Given the description of an element on the screen output the (x, y) to click on. 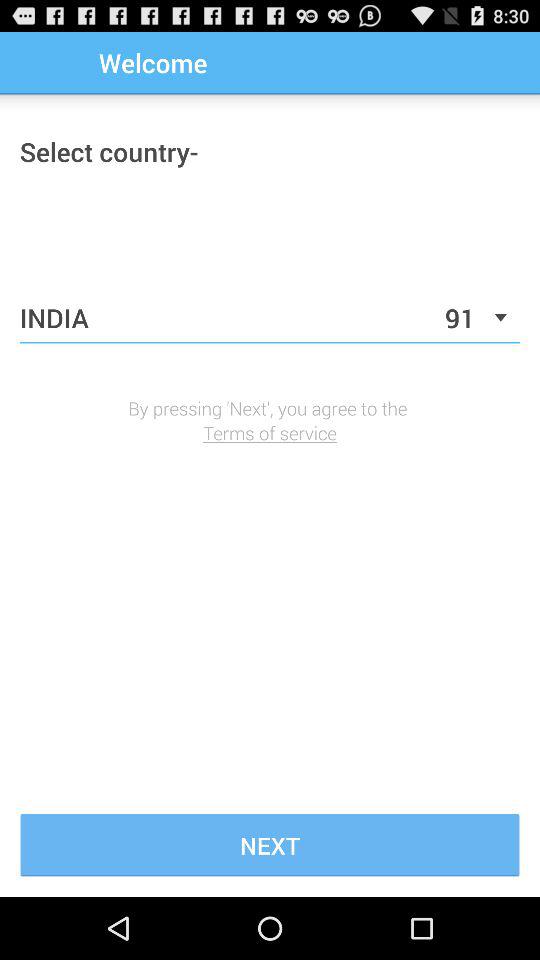
open terms of service icon (269, 432)
